Given the description of an element on the screen output the (x, y) to click on. 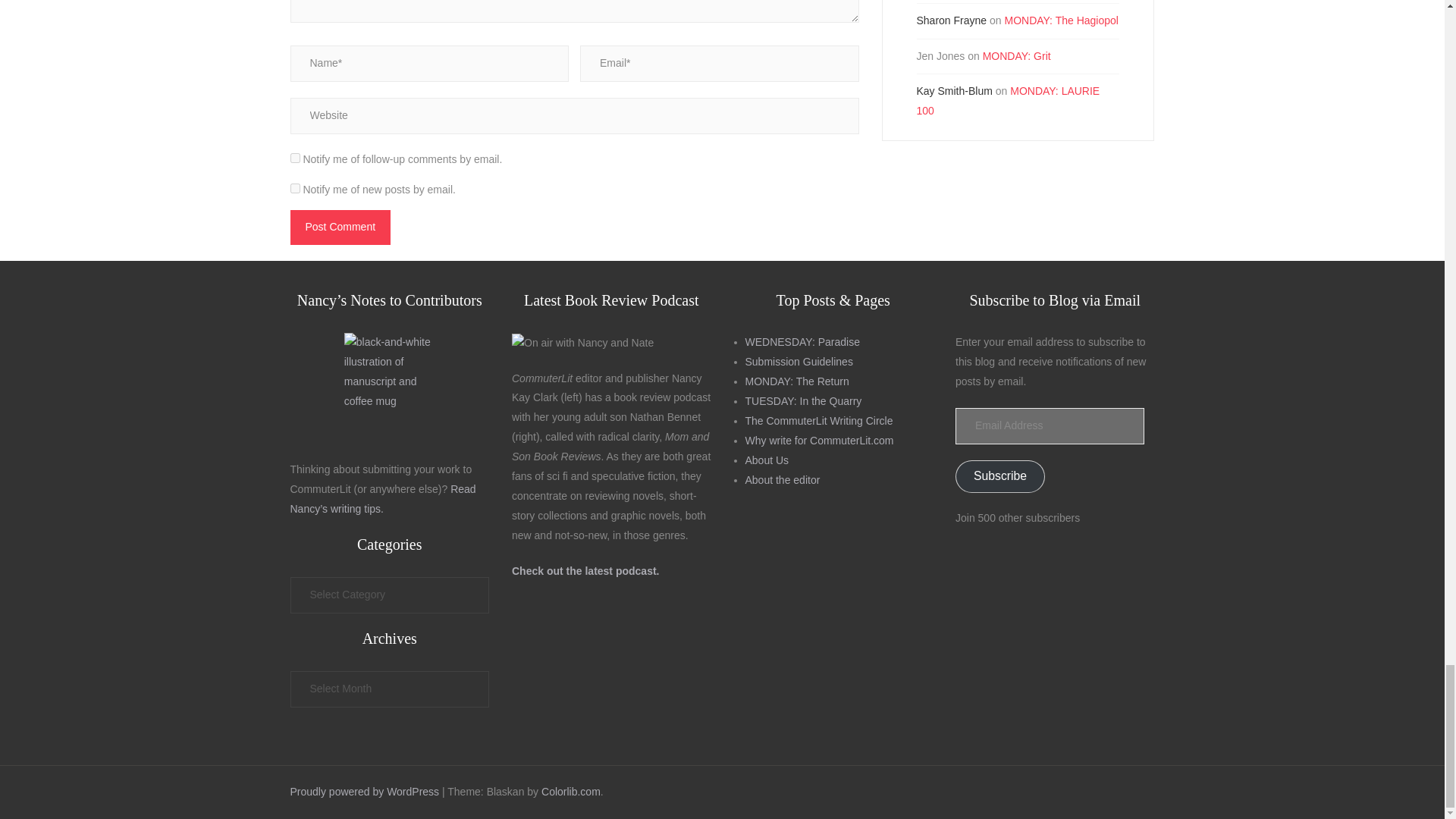
subscribe (294, 157)
subscribe (294, 188)
Post Comment (339, 226)
